Given the description of an element on the screen output the (x, y) to click on. 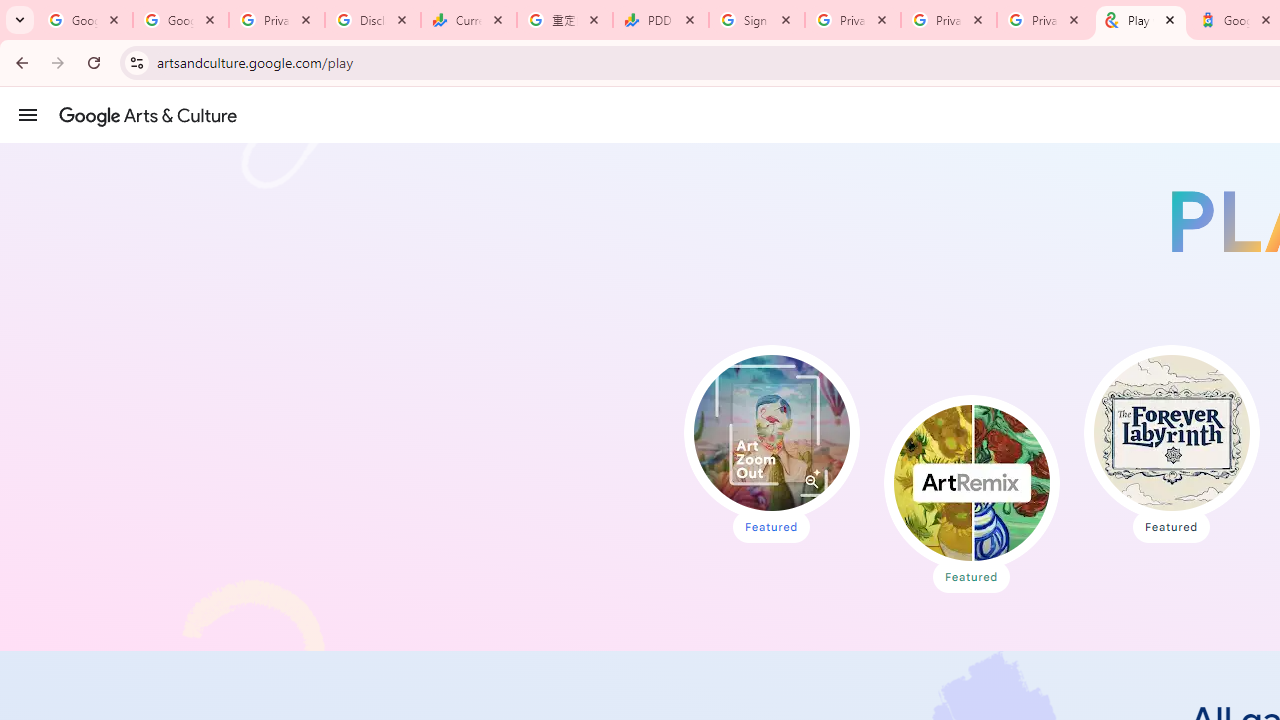
Menu (27, 114)
Art Zoom Out (771, 432)
The Forever Labyrinth (1170, 432)
Google Workspace Admin Community (85, 20)
Privacy Checkup (949, 20)
Art Remix (971, 482)
Sign in - Google Accounts (757, 20)
